Given the description of an element on the screen output the (x, y) to click on. 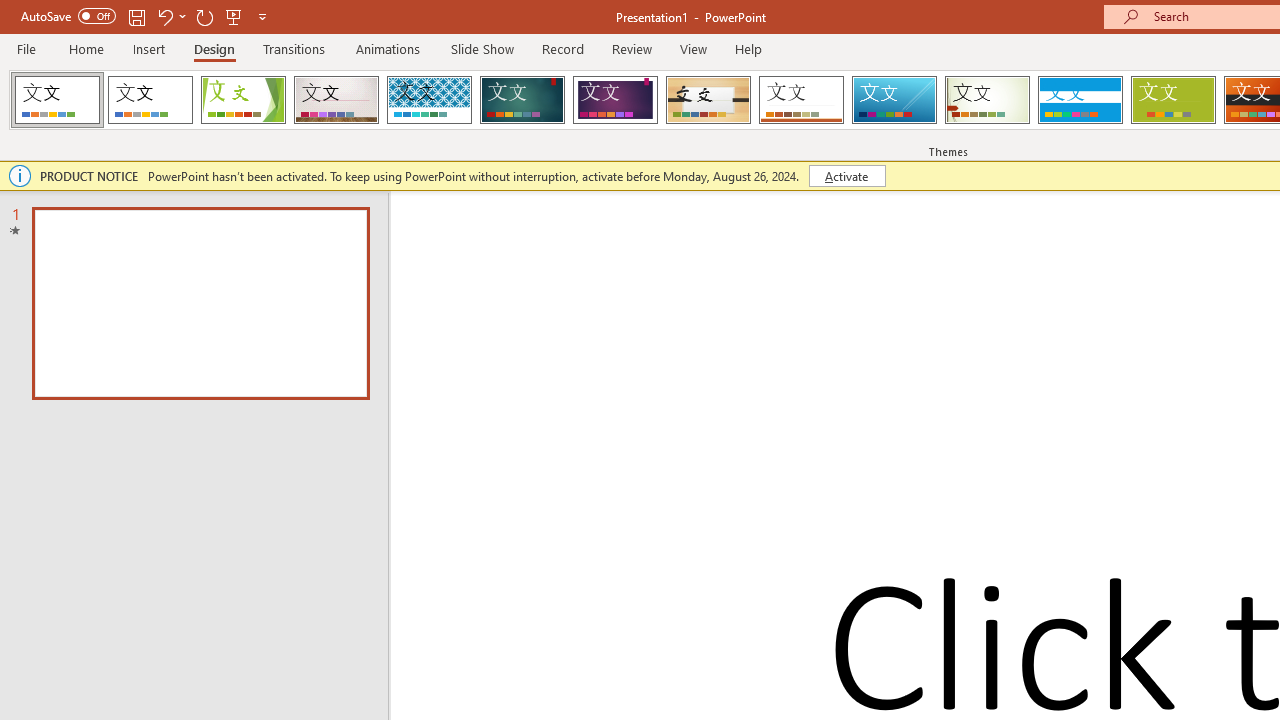
Office Theme (150, 100)
